Given the description of an element on the screen output the (x, y) to click on. 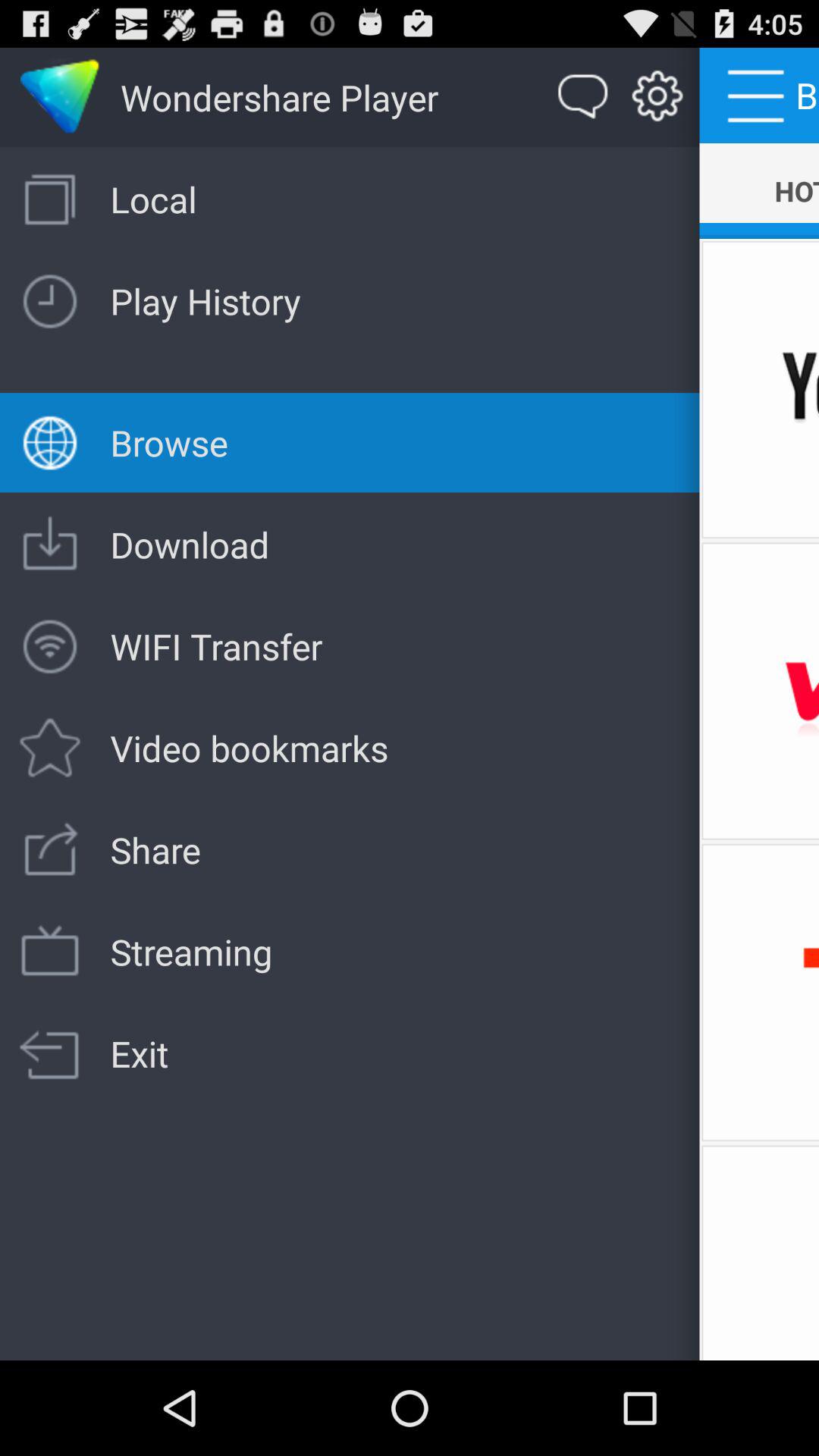
press the app below hot (759, 389)
